Given the description of an element on the screen output the (x, y) to click on. 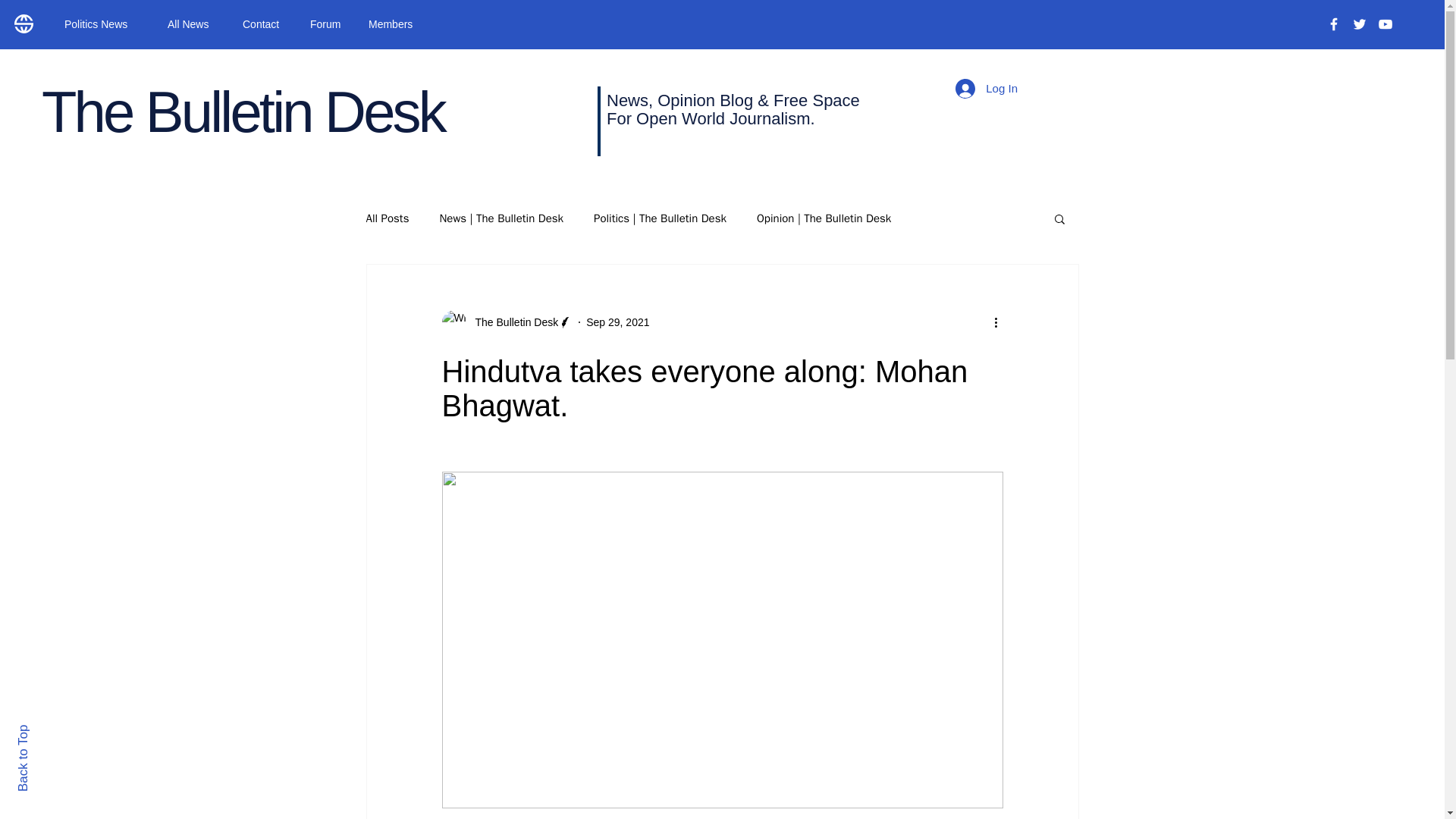
All News (193, 24)
The Bulletin Desk (243, 111)
Contact (264, 24)
Sep 29, 2021 (617, 321)
Forum (327, 24)
Members (394, 24)
The Bulletin Desk (506, 322)
All Posts (387, 217)
Log In (985, 88)
Politics News (103, 24)
The Bulletin Desk  (511, 321)
